Given the description of an element on the screen output the (x, y) to click on. 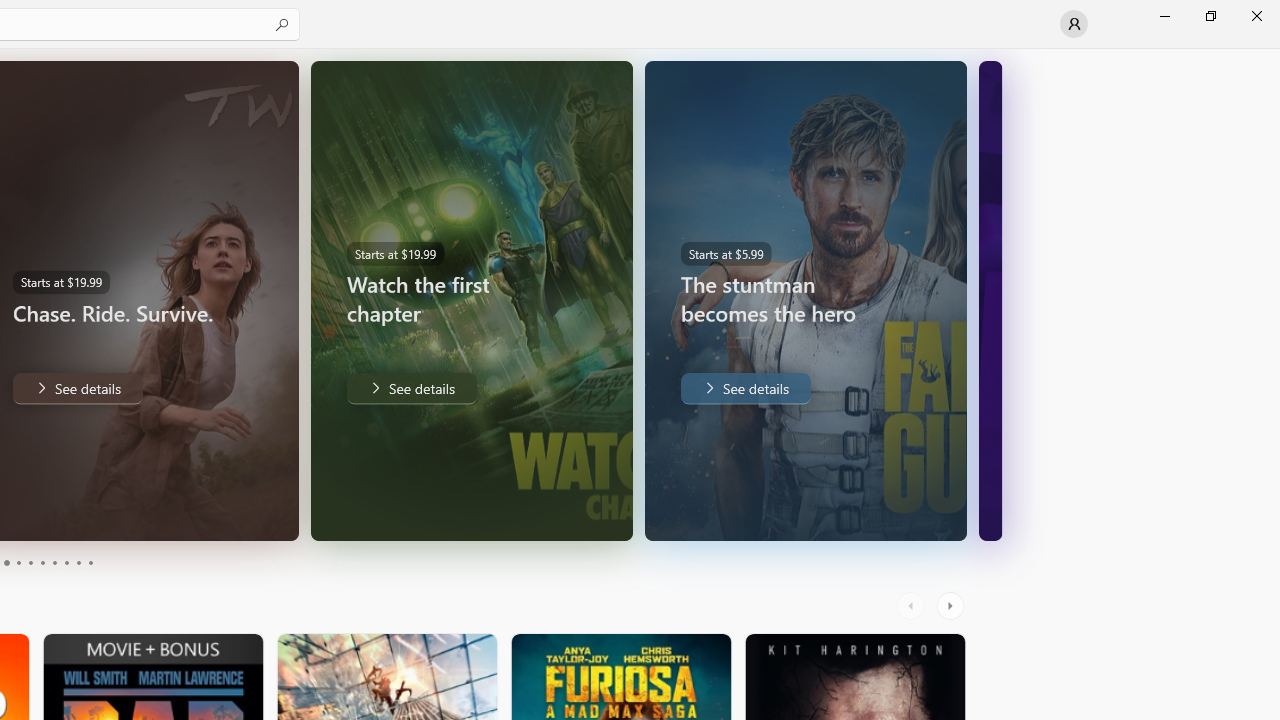
AutomationID: LeftScrollButton (913, 606)
Page 8 (65, 562)
User profile (1073, 24)
Page 4 (17, 562)
AutomationID: Image (989, 300)
Close Microsoft Store (1256, 15)
Page 3 (5, 562)
Minimize Microsoft Store (1164, 15)
Page 6 (41, 562)
Page 7 (54, 562)
AutomationID: RightScrollButton (952, 606)
Page 5 (29, 562)
